Given the description of an element on the screen output the (x, y) to click on. 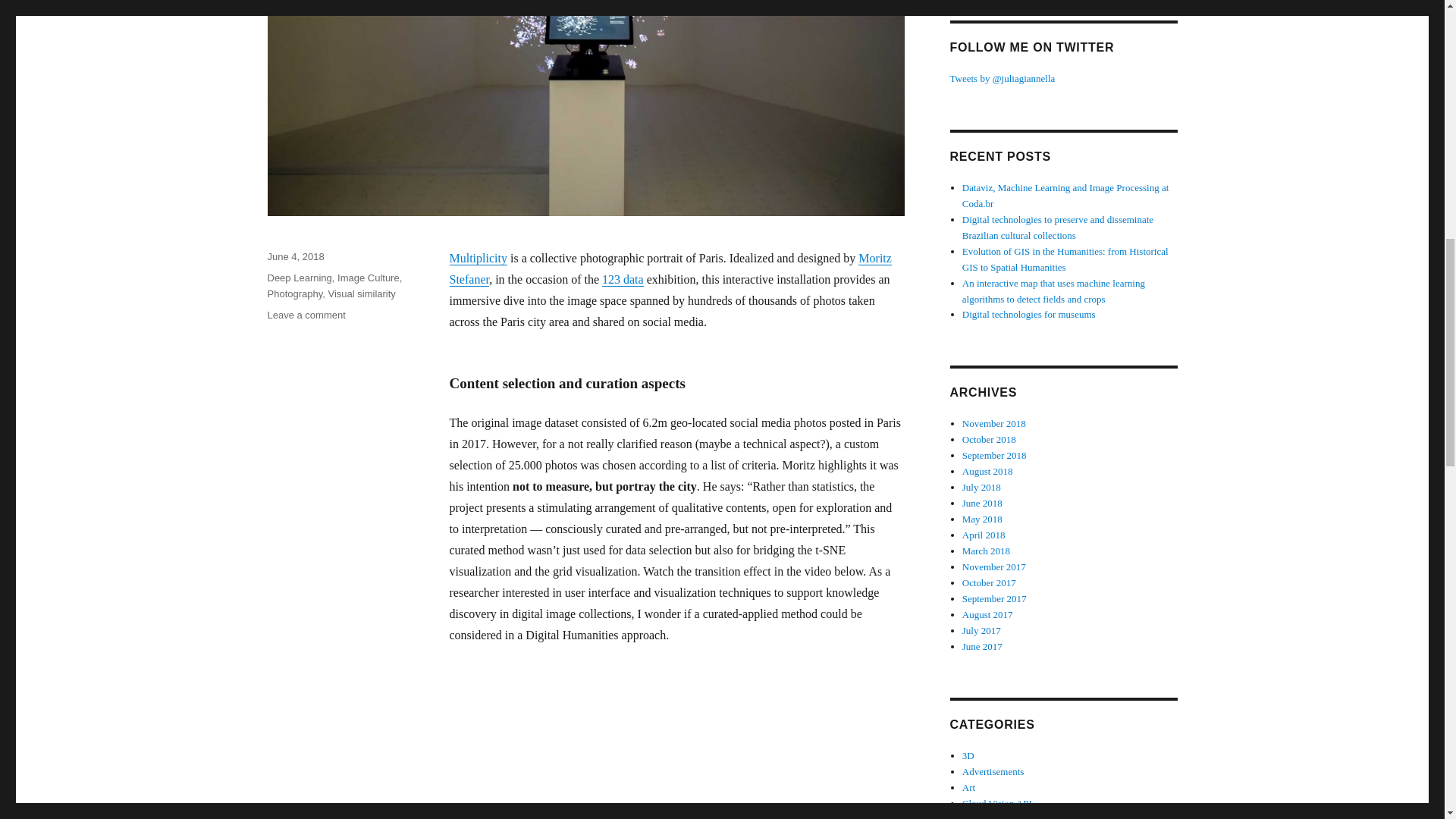
November 2018 (994, 423)
Multiplicity (477, 257)
Photography (293, 293)
123 data (622, 278)
Moritz Stefaner (669, 268)
Image Culture (367, 277)
Dataviz, Machine Learning and Image Processing at Coda.br (1065, 195)
June 4, 2018 (294, 256)
